Given the description of an element on the screen output the (x, y) to click on. 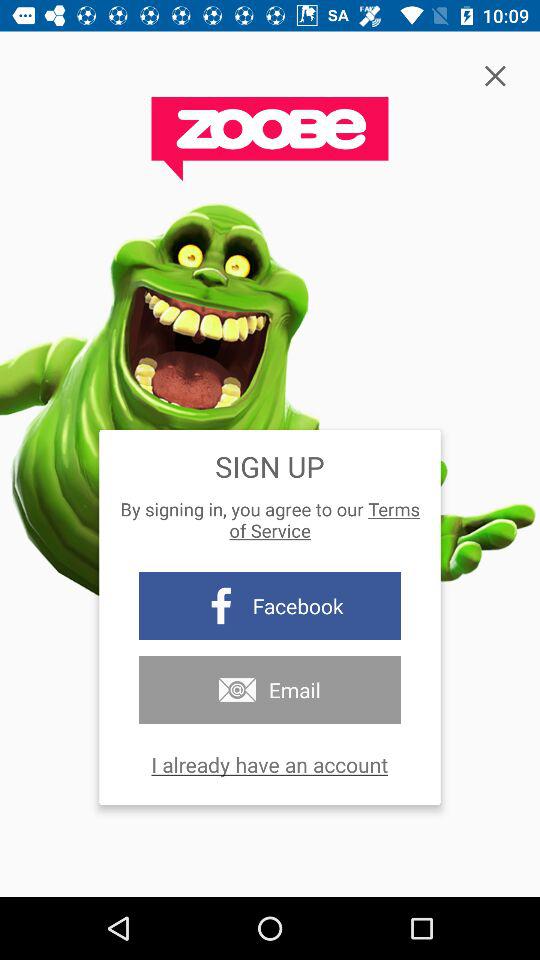
tap the i already have icon (269, 764)
